Given the description of an element on the screen output the (x, y) to click on. 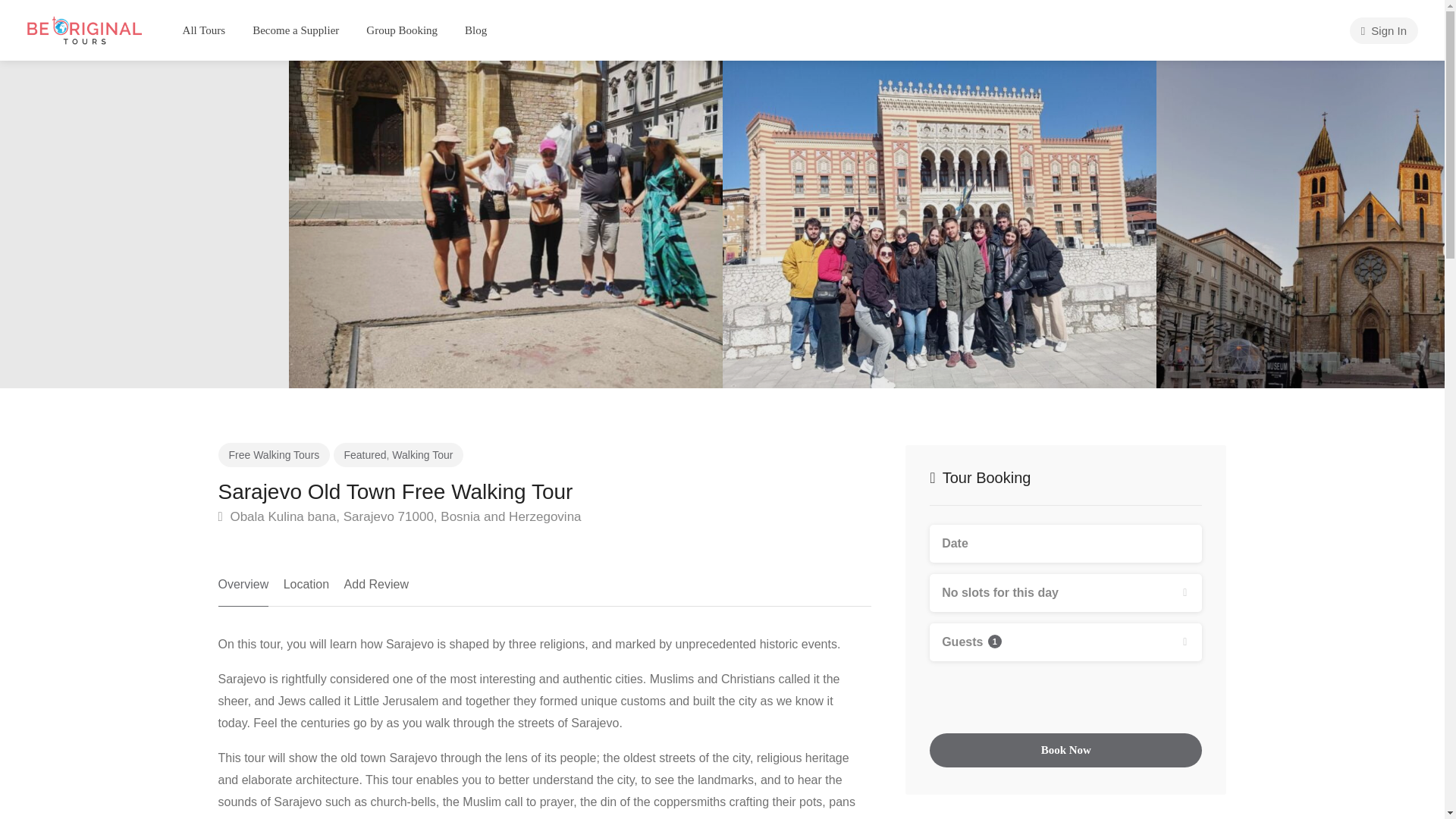
Add Review (376, 590)
Free Walking Tours (274, 454)
Overview (243, 590)
Become a Supplier (295, 30)
Sign In (1383, 30)
Obala Kulina bana, Sarajevo 71000, Bosnia and Herzegovina (399, 516)
Be Original Tours (84, 29)
All Tours (204, 30)
Walking Tour (421, 454)
Featured (365, 454)
Location (306, 590)
Group Booking (401, 30)
Blog (474, 30)
